Given the description of an element on the screen output the (x, y) to click on. 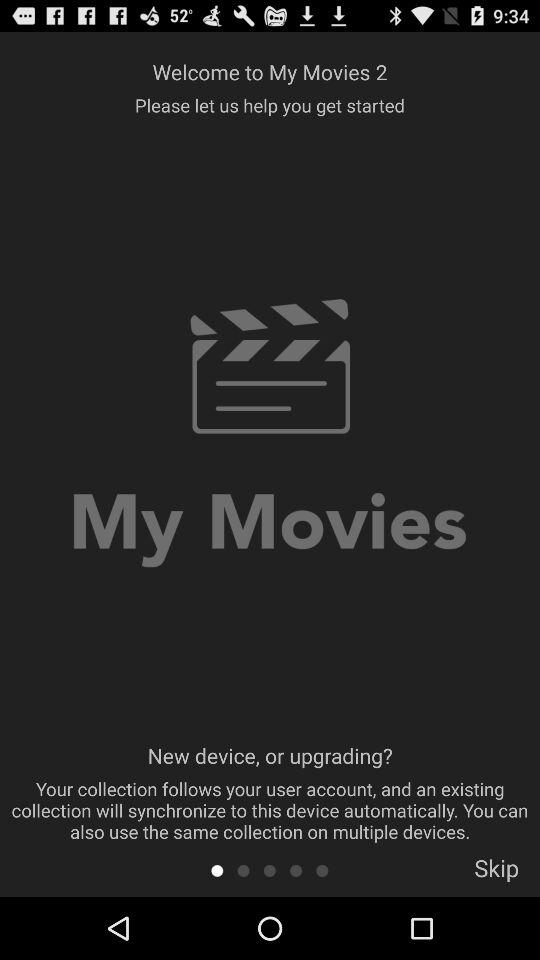
a circle (295, 870)
